Given the description of an element on the screen output the (x, y) to click on. 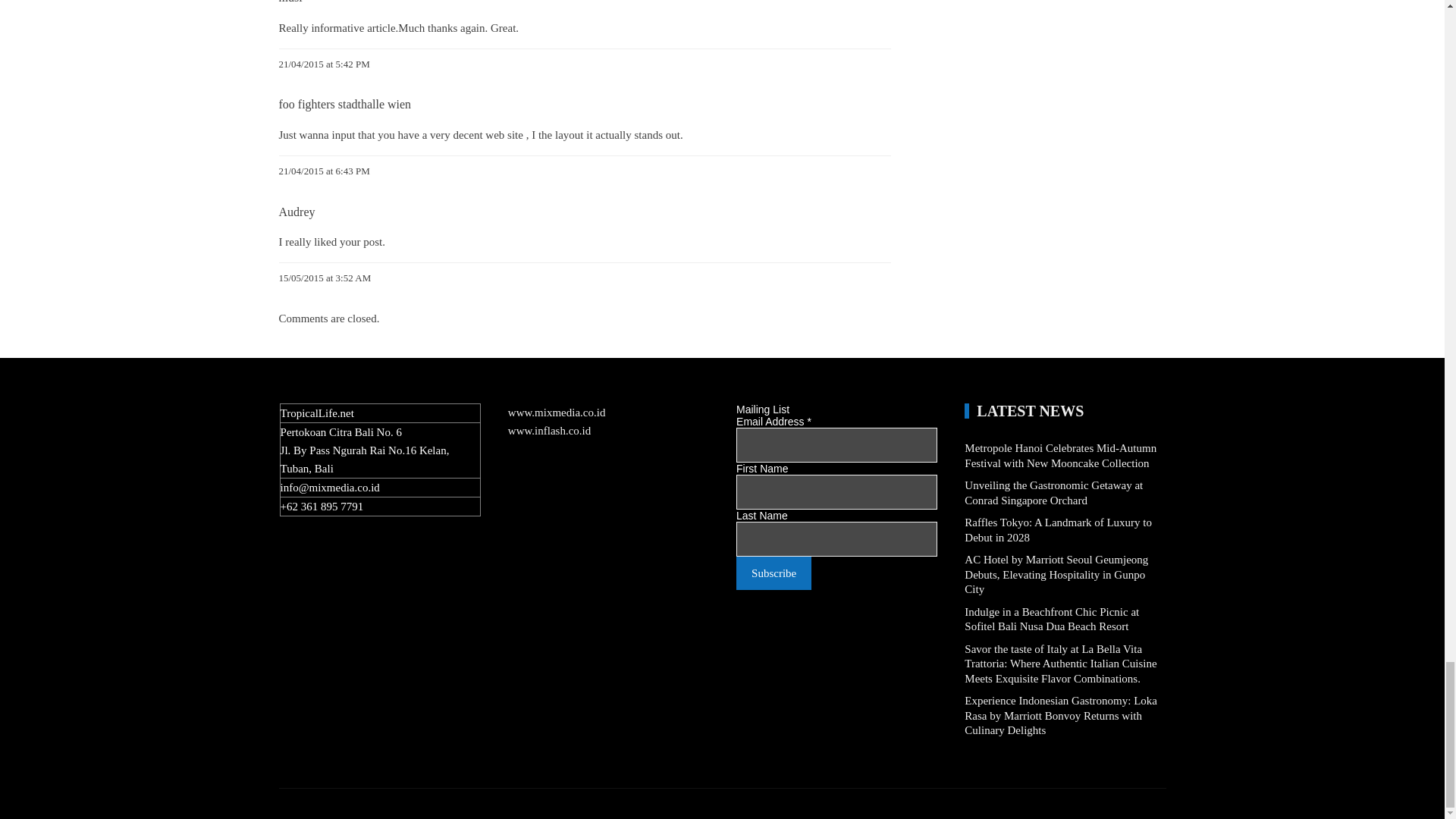
Subscribe (773, 572)
foo fighters stadthalle wien (345, 103)
musi (290, 2)
